Given the description of an element on the screen output the (x, y) to click on. 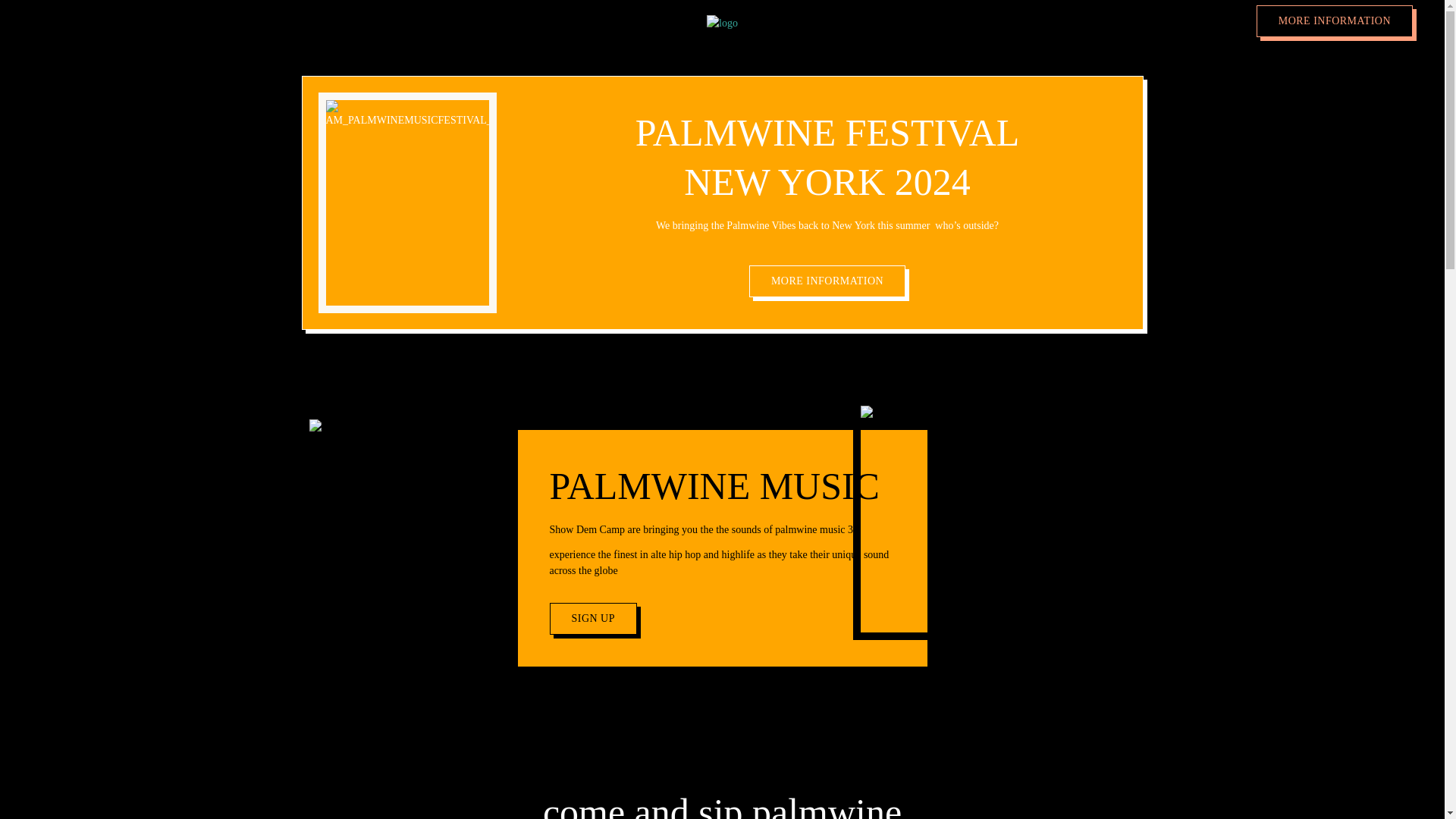
SIGN UP (592, 618)
MORE INFORMATION (827, 281)
MORE INFORMATION (1334, 20)
